Given the description of an element on the screen output the (x, y) to click on. 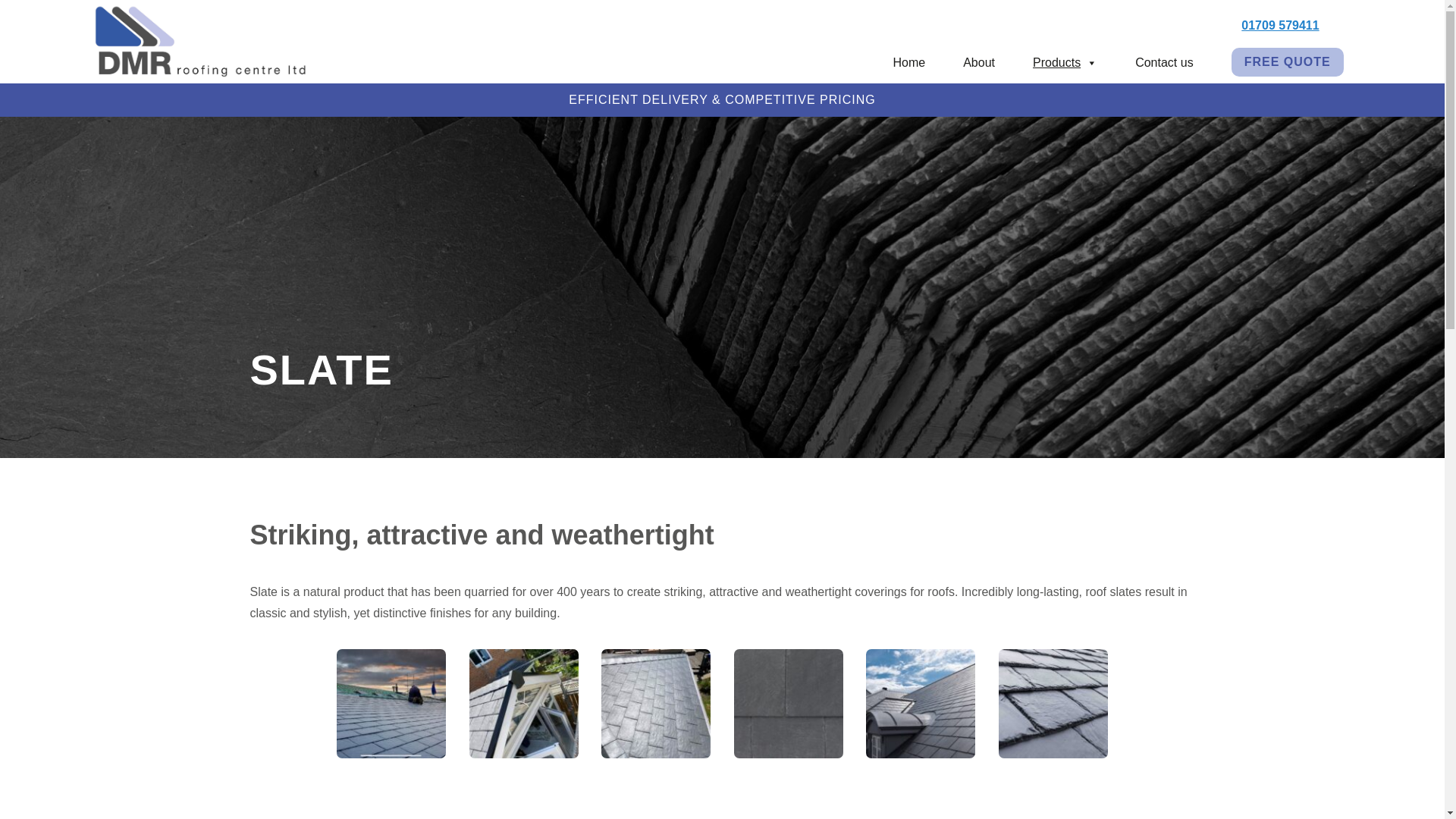
Contact us (1144, 62)
FREE QUOTE (1268, 62)
Products (1045, 62)
About (959, 62)
Home (891, 62)
FREE QUOTE (1287, 61)
01709 579411 (1280, 24)
